Given the description of an element on the screen output the (x, y) to click on. 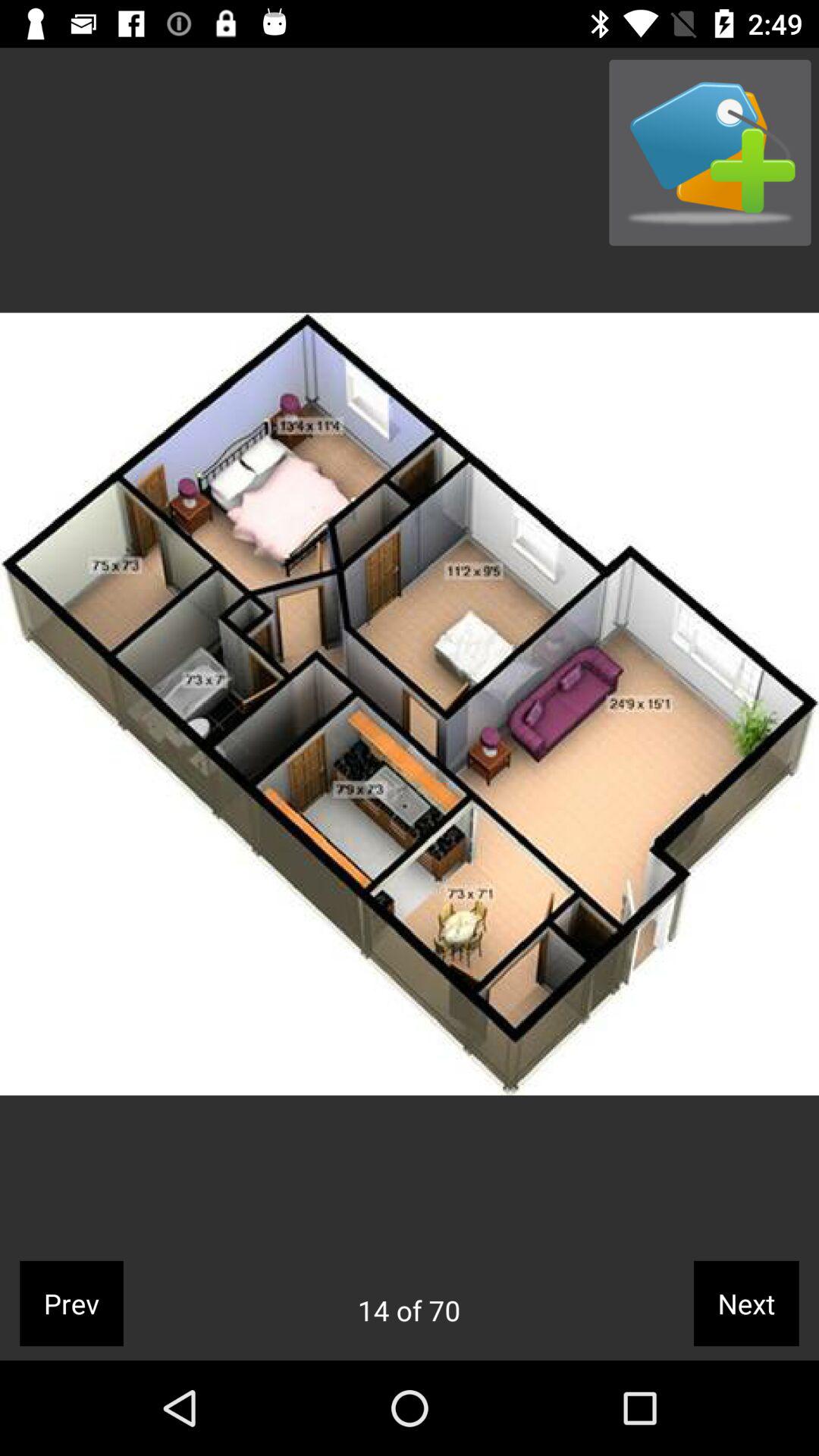
jump to the prev item (71, 1303)
